Given the description of an element on the screen output the (x, y) to click on. 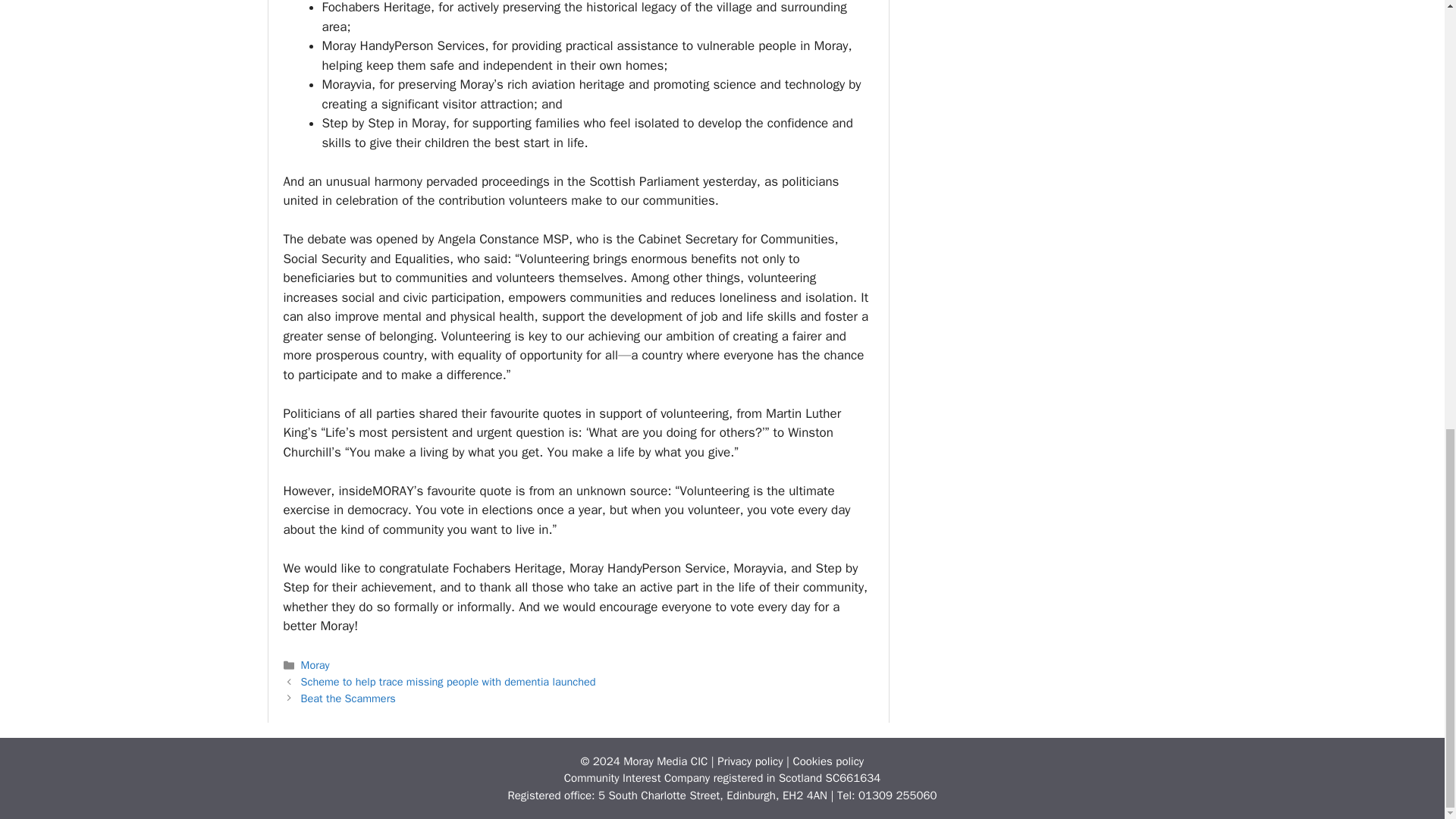
Privacy policy (750, 761)
Beat the Scammers (348, 698)
Moray (315, 664)
Cookies policy (827, 761)
Scheme to help trace missing people with dementia launched (448, 681)
